Given the description of an element on the screen output the (x, y) to click on. 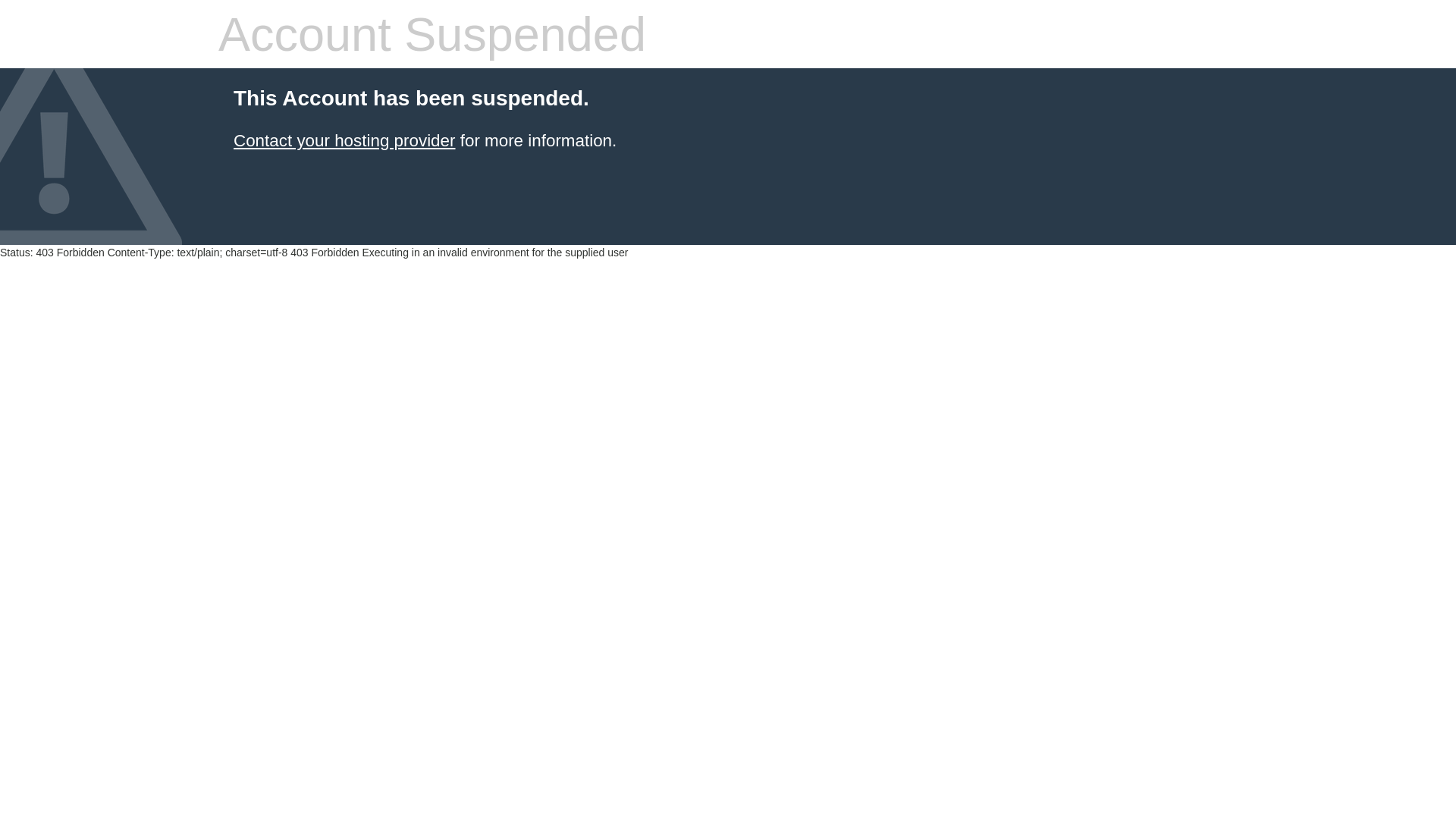
Contact your hosting provider Element type: text (344, 140)
